Given the description of an element on the screen output the (x, y) to click on. 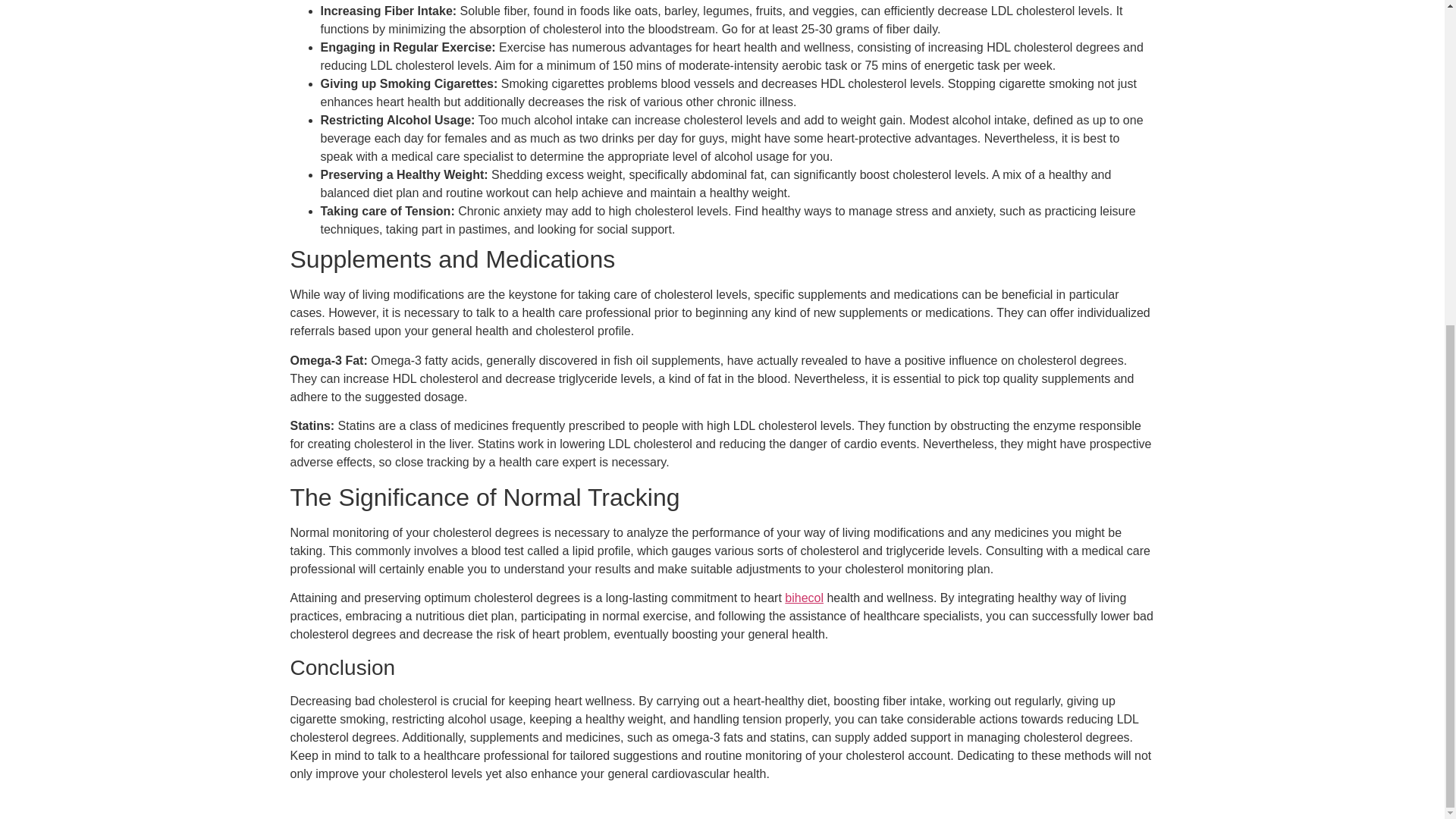
bihecol (804, 597)
